Given the description of an element on the screen output the (x, y) to click on. 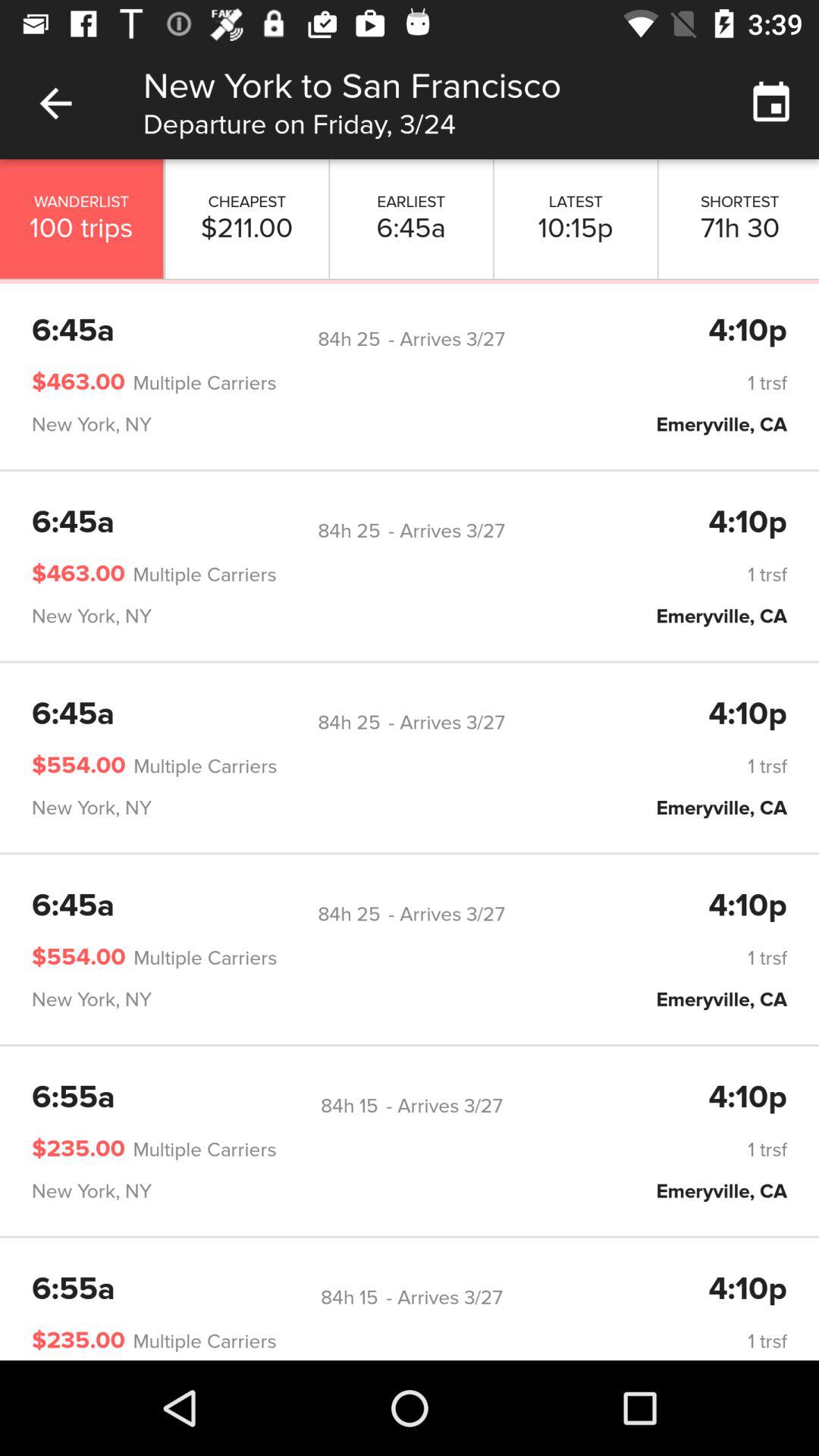
go back (55, 103)
